Given the description of an element on the screen output the (x, y) to click on. 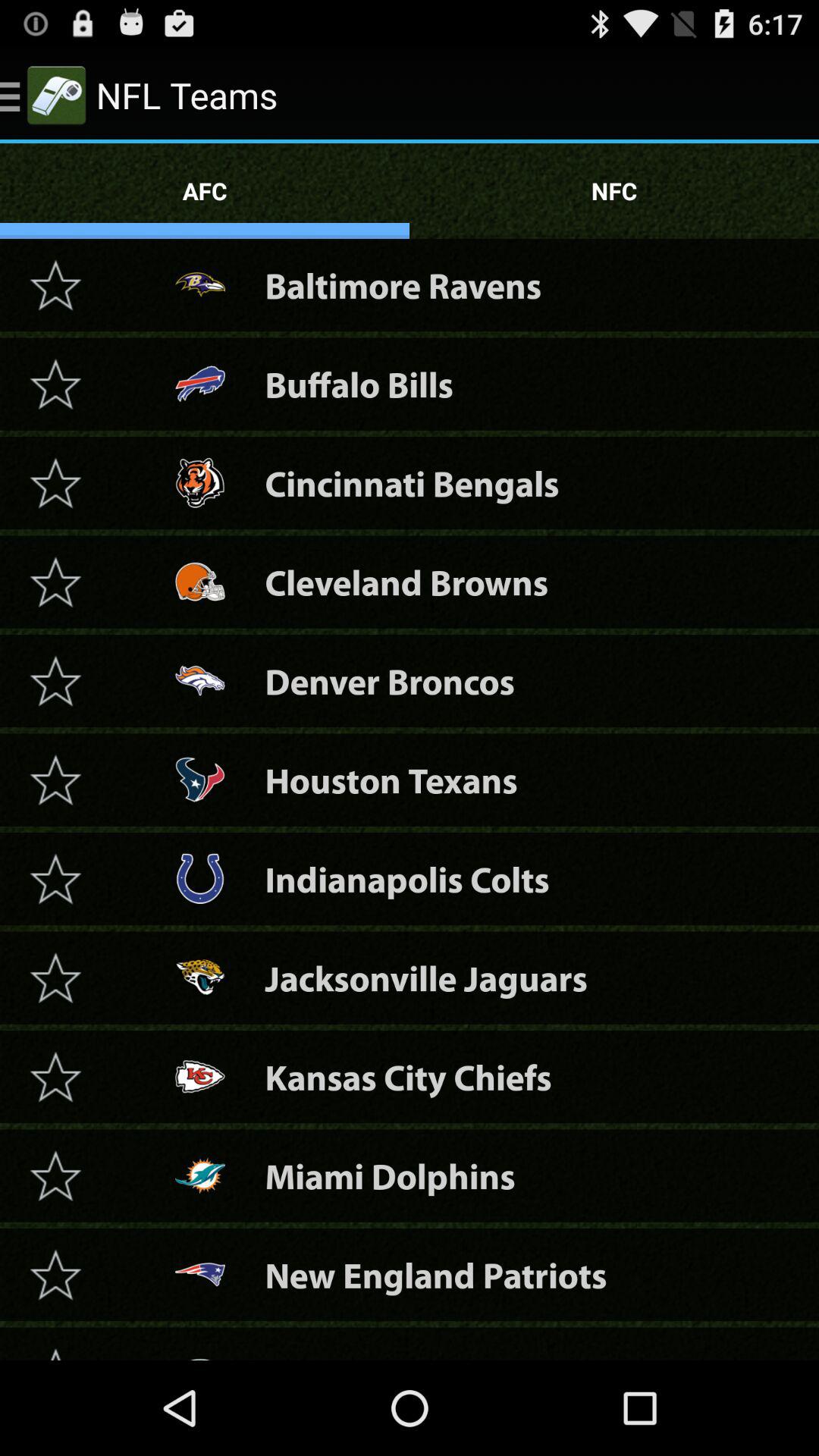
add to favorits (55, 383)
